Given the description of an element on the screen output the (x, y) to click on. 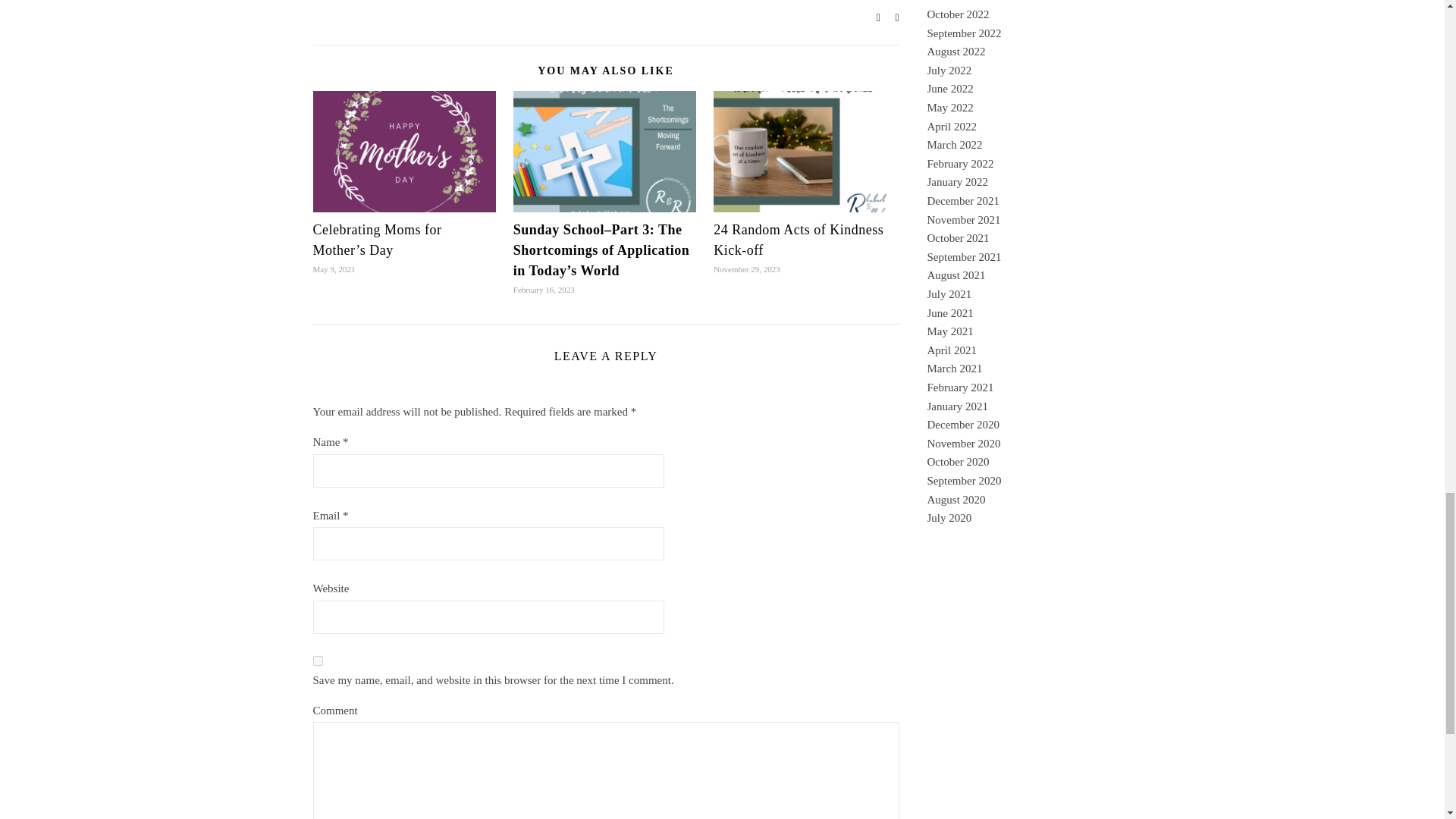
yes (317, 660)
